Given the description of an element on the screen output the (x, y) to click on. 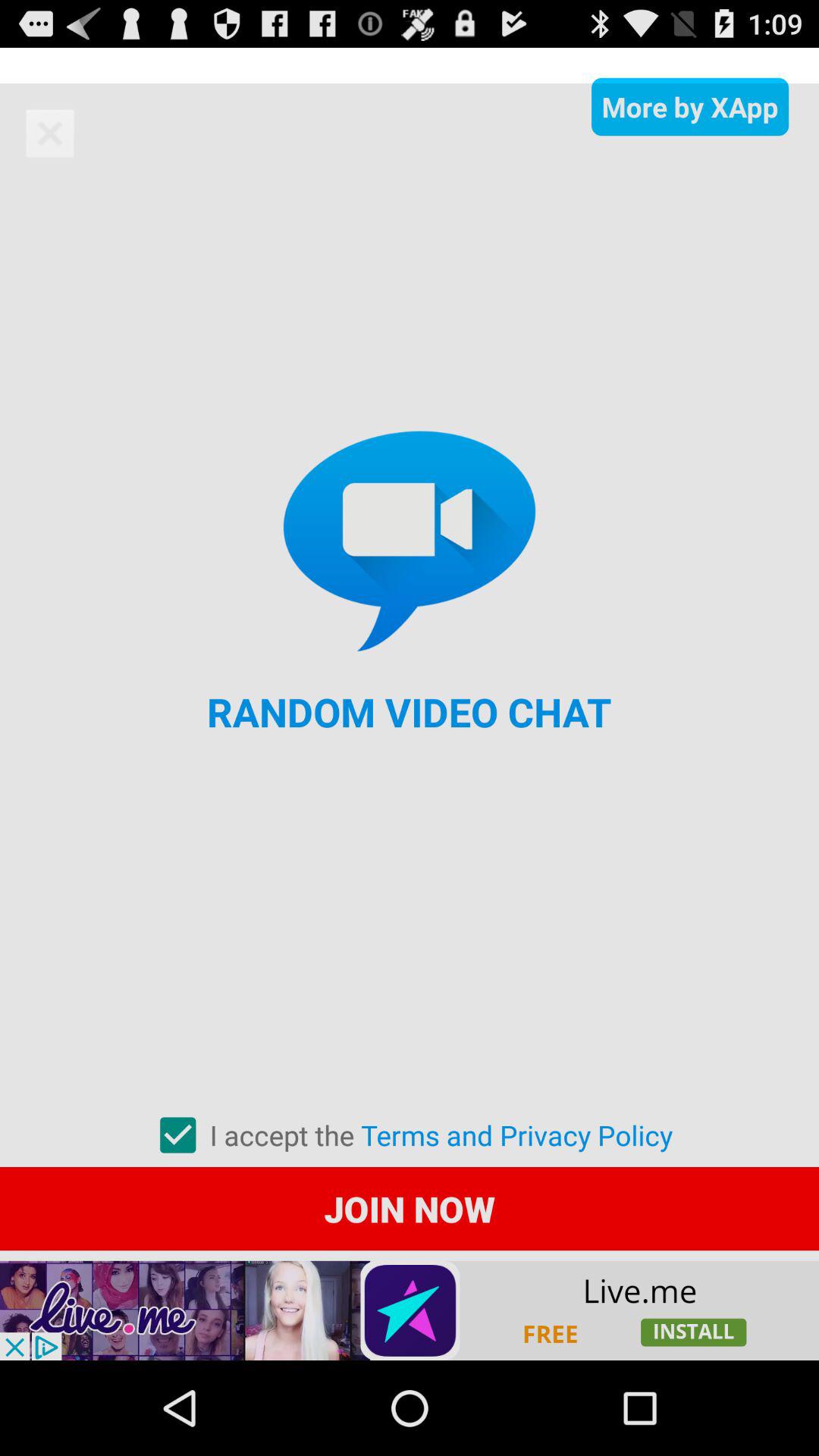
go to advertisement page (409, 1310)
